Given the description of an element on the screen output the (x, y) to click on. 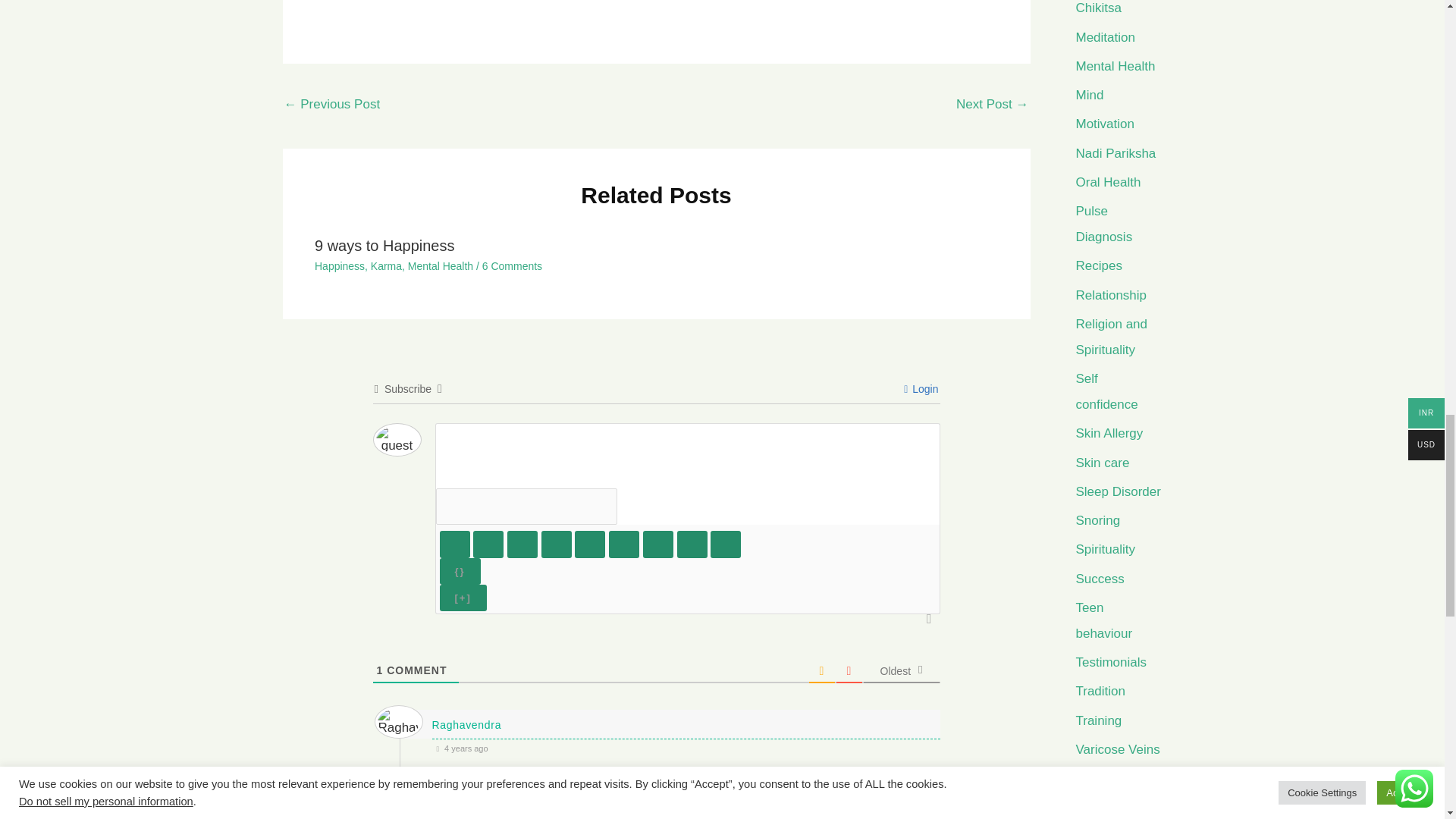
Italic (488, 543)
Ordered List (590, 543)
Strike (556, 543)
6 steps to develop Self confidence now (991, 105)
Bold (454, 543)
Source Code (459, 570)
Underline (521, 543)
Agni is the Fire that ignites and transforms (331, 105)
Link (725, 543)
Blockquote (657, 543)
Unordered List (623, 543)
Code Block (692, 543)
